Given the description of an element on the screen output the (x, y) to click on. 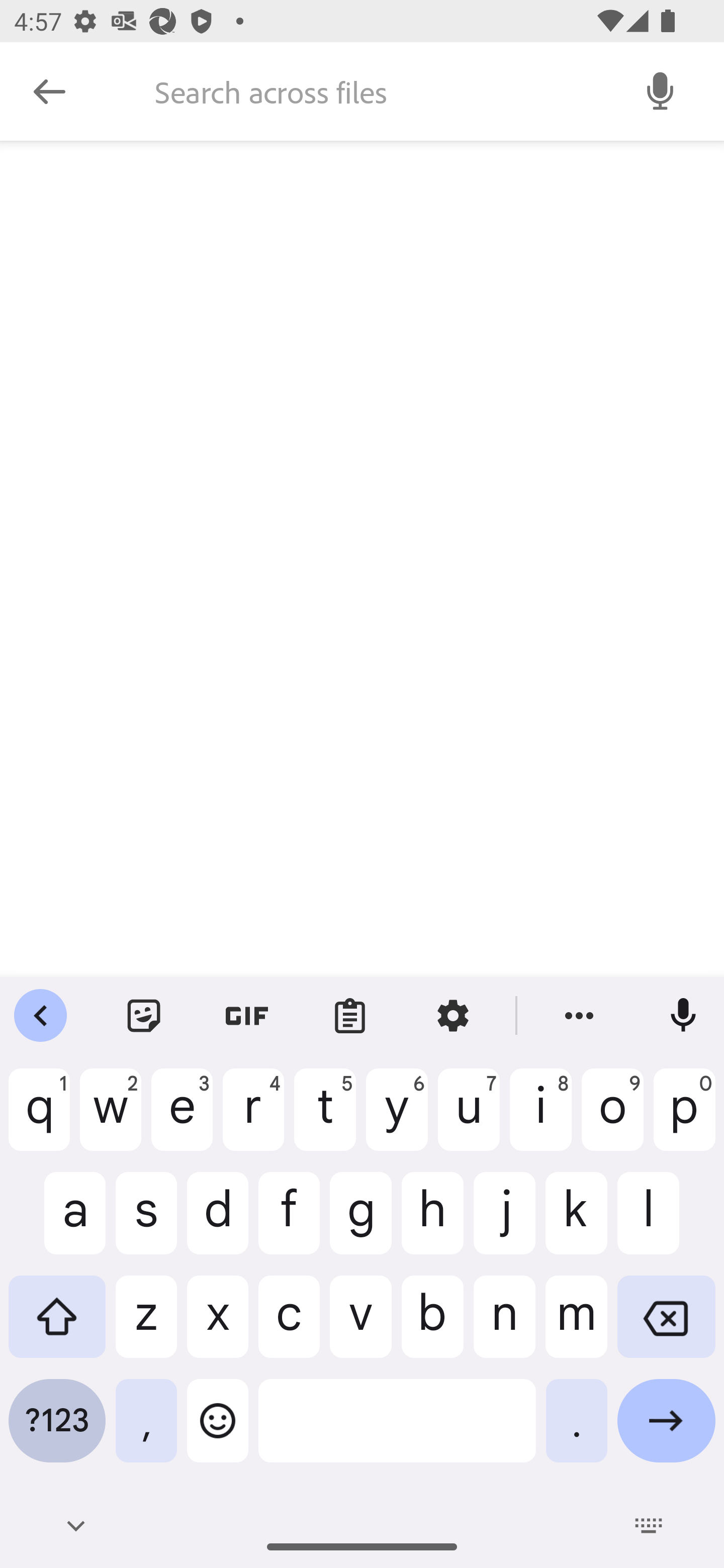
Navigate up (49, 91)
Voice search (660, 90)
Search across files (375, 91)
